Given the description of an element on the screen output the (x, y) to click on. 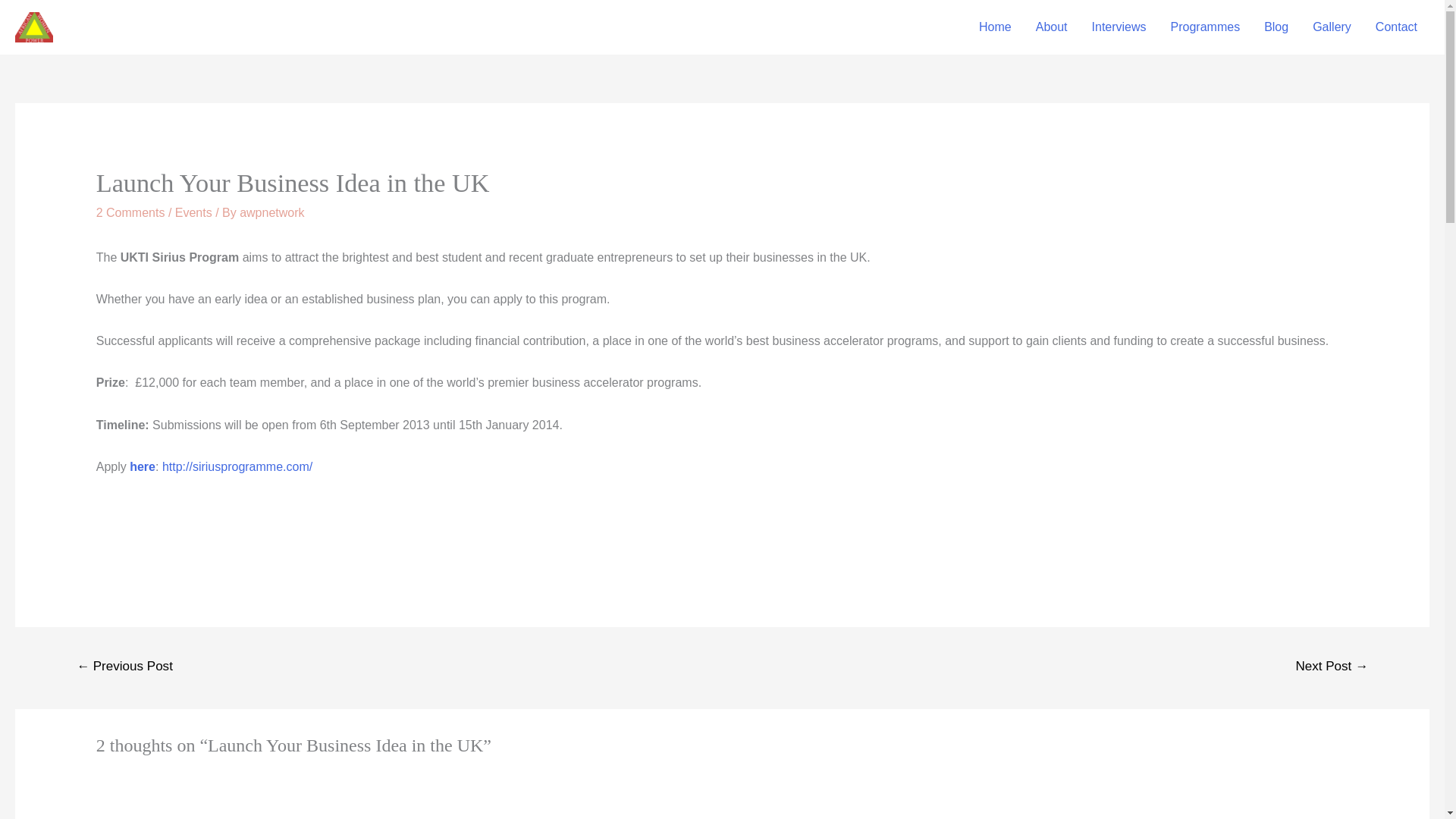
View all posts by awpnetwork (272, 212)
Programmes (1205, 27)
About (1051, 27)
Interviews (1119, 27)
Gallery (1331, 27)
Contact (1395, 27)
Home (994, 27)
Blog (1276, 27)
